Given the description of an element on the screen output the (x, y) to click on. 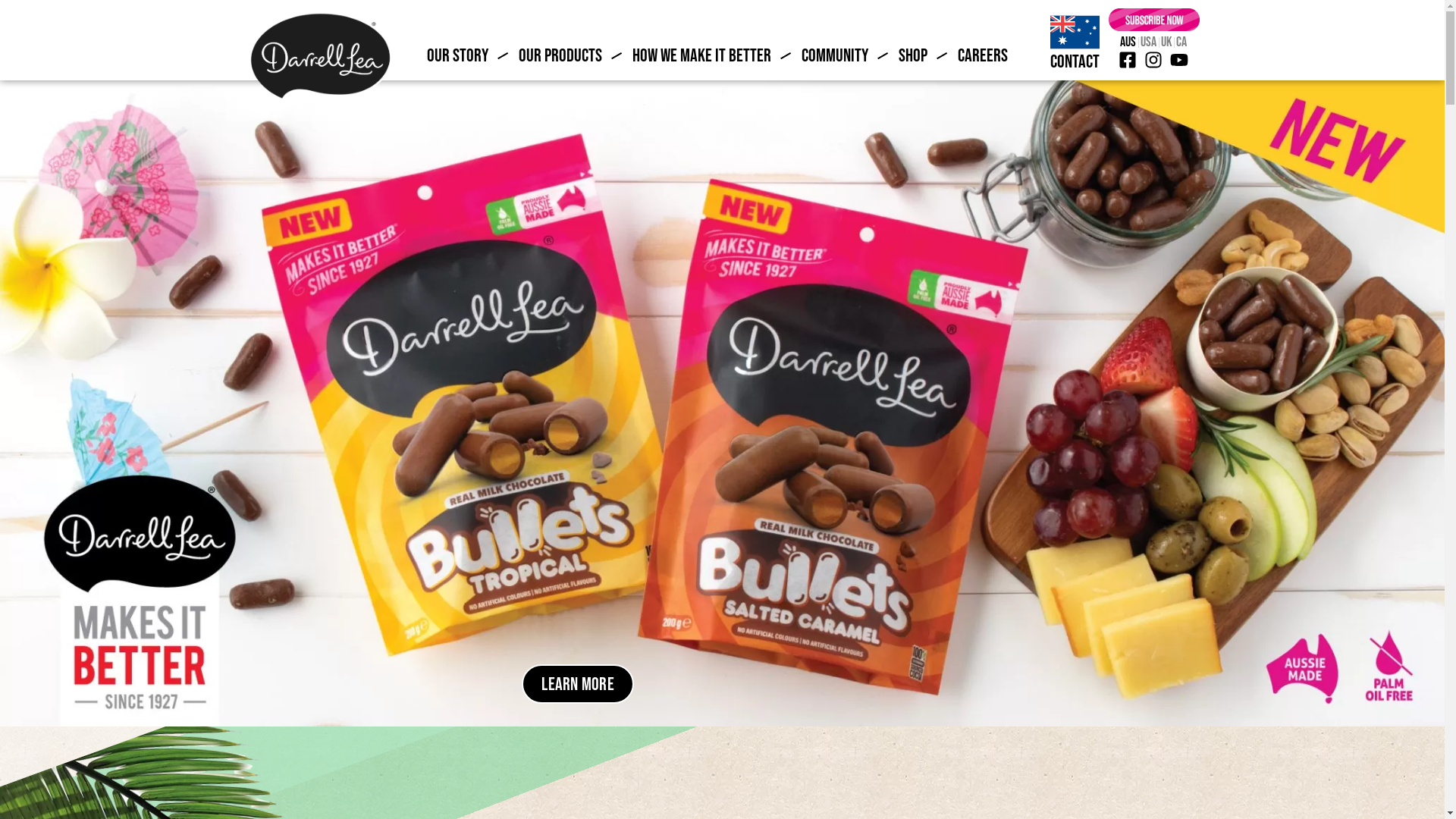
Shop Element type: text (912, 55)
LEARN MORE Element type: text (577, 683)
CA Element type: text (1181, 42)
USA Element type: text (1148, 42)
Careers Element type: text (982, 55)
Our Products Element type: text (560, 55)
How We Make It Better Element type: text (701, 55)
UK Element type: text (1166, 42)
Our Story Element type: text (457, 55)
Community Element type: text (834, 55)
CONTACT Element type: text (1074, 60)
